Given the description of an element on the screen output the (x, y) to click on. 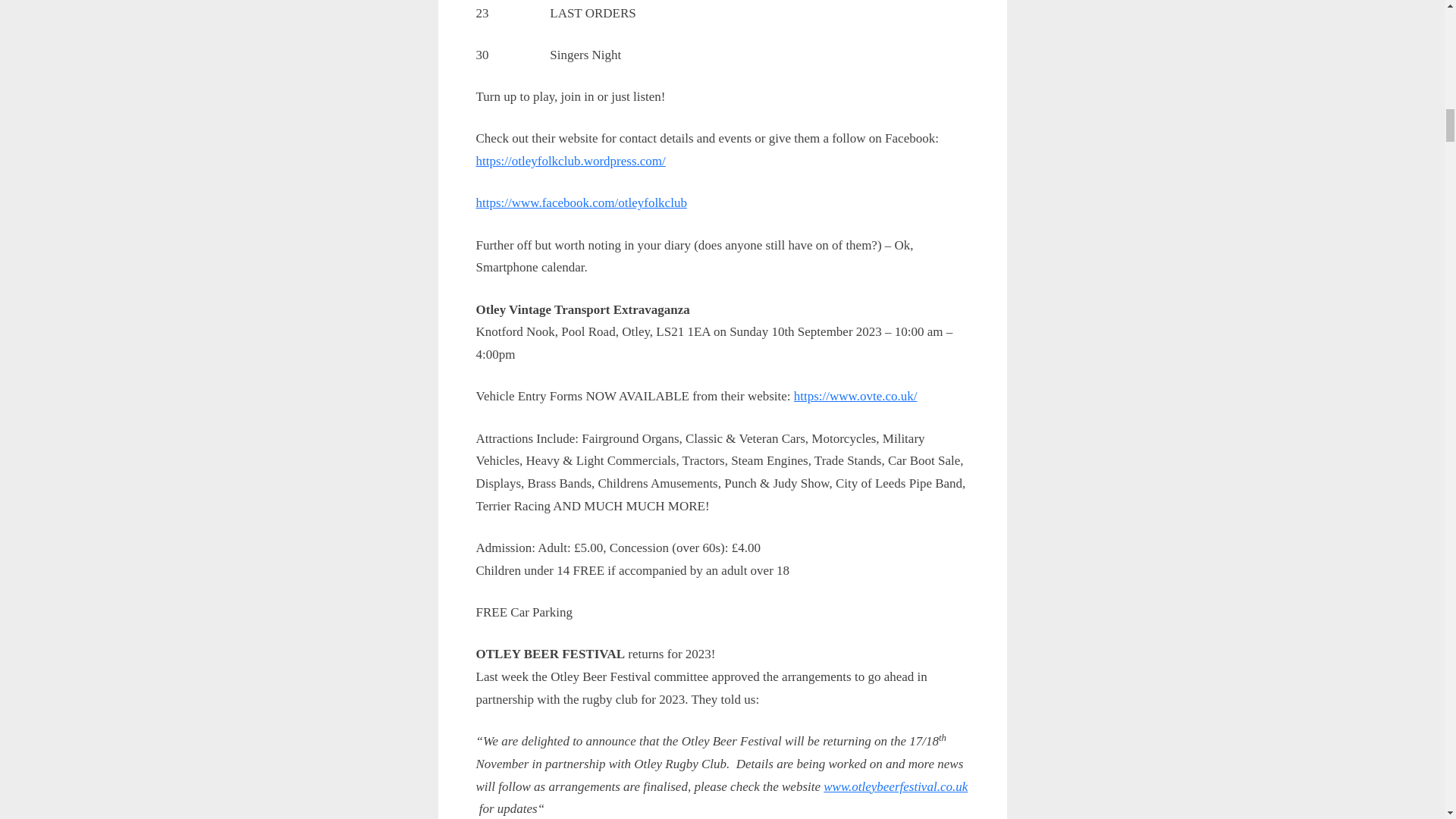
www.otleybeerfestival.co.uk (896, 786)
